Given the description of an element on the screen output the (x, y) to click on. 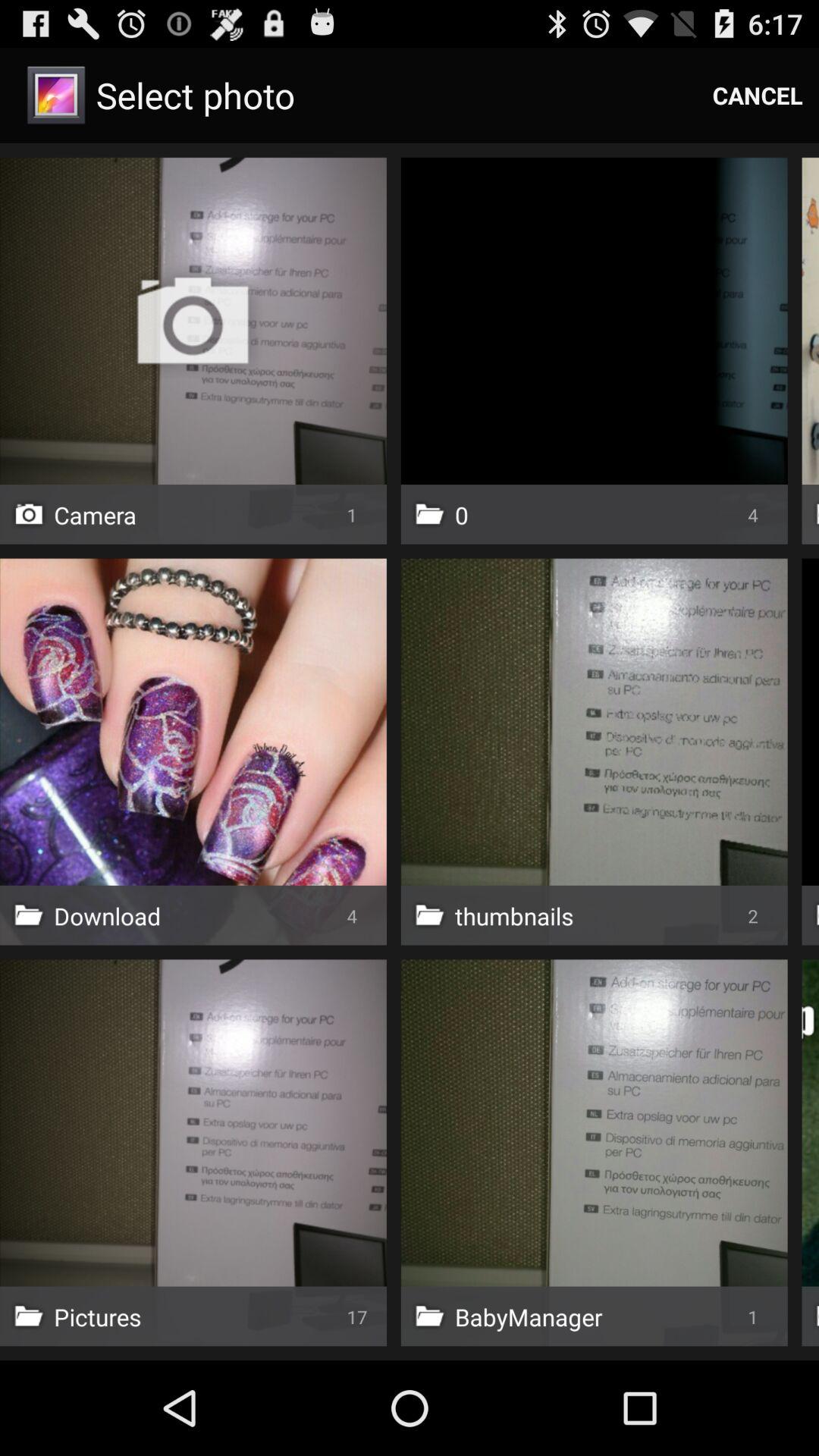
launch cancel (757, 95)
